Given the description of an element on the screen output the (x, y) to click on. 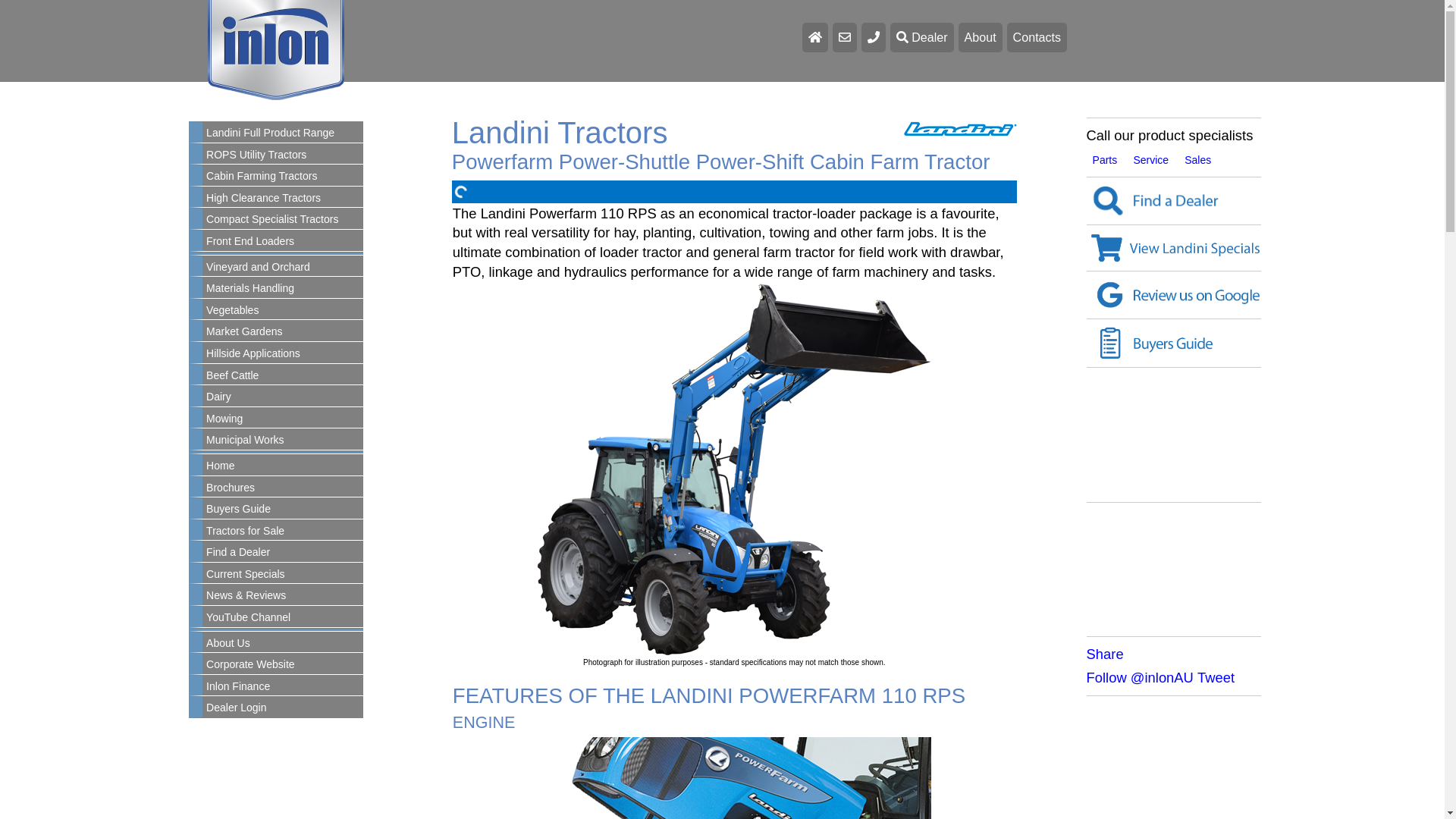
Corporate Website Element type: text (282, 664)
Front End Loaders Element type: text (282, 241)
Municipal Works Element type: text (282, 440)
Market Gardens Element type: text (282, 332)
ROPS Utility Tractors Element type: text (282, 155)
About Us Element type: text (282, 643)
Materials Handling Element type: text (282, 288)
Buyers Guide Element type: text (282, 509)
News & Reviews Element type: text (282, 595)
About Element type: text (980, 37)
High Clearance Tractors Element type: text (282, 198)
Dairy Element type: text (282, 397)
Brochures Element type: text (282, 488)
Follow @inlonAU Element type: text (1139, 677)
Tractors for Sale Element type: text (282, 531)
View Landini Specials Element type: hover (1173, 247)
Dealer Login Element type: text (282, 708)
Contacts Element type: text (1037, 37)
Review us on Google Element type: hover (1173, 294)
Hillside Applications Element type: text (282, 354)
Inlon Finance Element type: text (282, 686)
Vineyard and Orchard Element type: text (282, 267)
Share Element type: text (1104, 654)
Beef Cattle Element type: text (282, 376)
YouTube Channel Element type: text (282, 617)
Find a Dealer Element type: hover (1173, 201)
Dealer Element type: text (921, 37)
Parts Element type: text (1104, 159)
Vegetables Element type: text (282, 310)
Find a Dealer Element type: text (282, 552)
Buyers Guide Element type: hover (1173, 342)
Landini Powerfarm 110 RPS Element type: hover (733, 469)
Cabin Farming Tractors Element type: text (282, 176)
Home Element type: text (282, 466)
Compact Specialist Tractors Element type: text (282, 219)
Current Specials Element type: text (282, 574)
Tweet Element type: text (1215, 677)
Service Element type: text (1150, 159)
Mowing Element type: text (282, 419)
Sales Element type: text (1197, 159)
Landini Full Product Range Element type: text (282, 133)
